Given the description of an element on the screen output the (x, y) to click on. 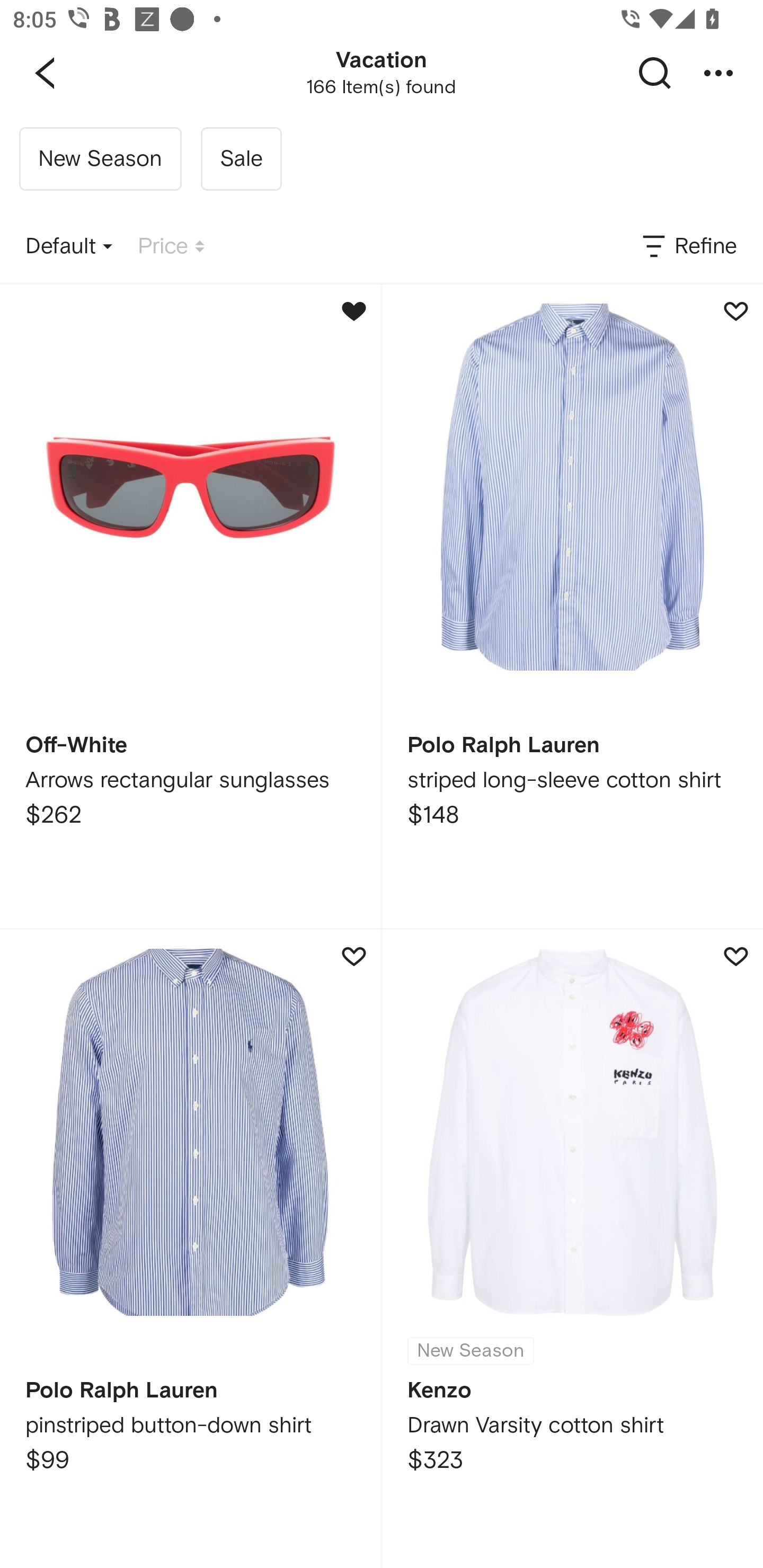
New Season (100, 158)
Sale (240, 158)
Default (68, 246)
Price (171, 246)
Refine (688, 246)
Off-White Arrows rectangular sunglasses $262 (190, 605)
Polo Ralph Lauren pinstriped button-down shirt $99 (190, 1248)
New Season Kenzo Drawn Varsity cotton shirt $323 (572, 1248)
